Given the description of an element on the screen output the (x, y) to click on. 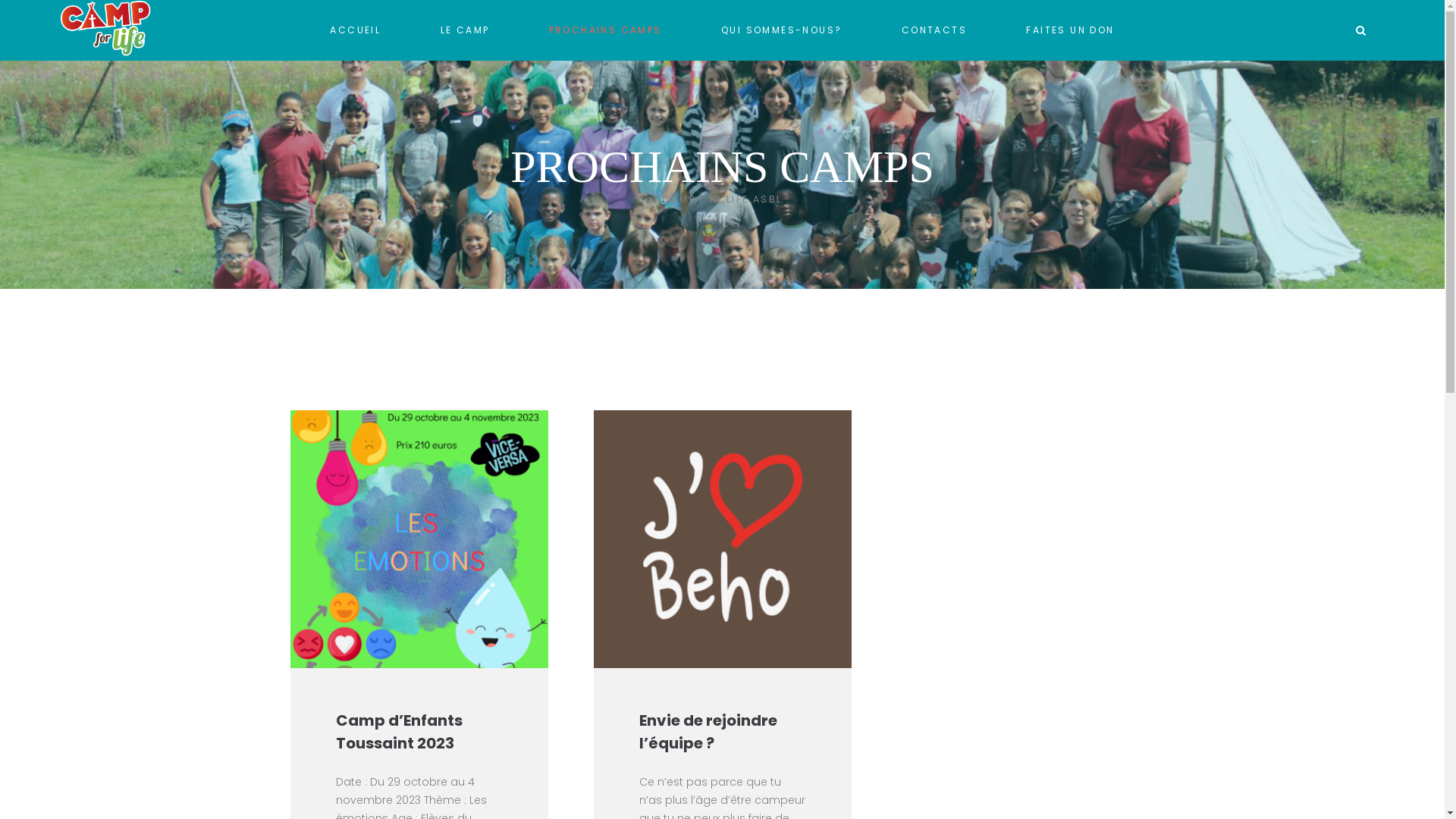
FAITES UN DON Element type: text (1069, 29)
CONTACTS Element type: text (933, 29)
QUI SOMMES-NOUS? Element type: text (781, 29)
PROCHAINS CAMPS Element type: text (605, 29)
ACCUEIL Element type: text (354, 29)
LE CAMP Element type: text (464, 29)
